Given the description of an element on the screen output the (x, y) to click on. 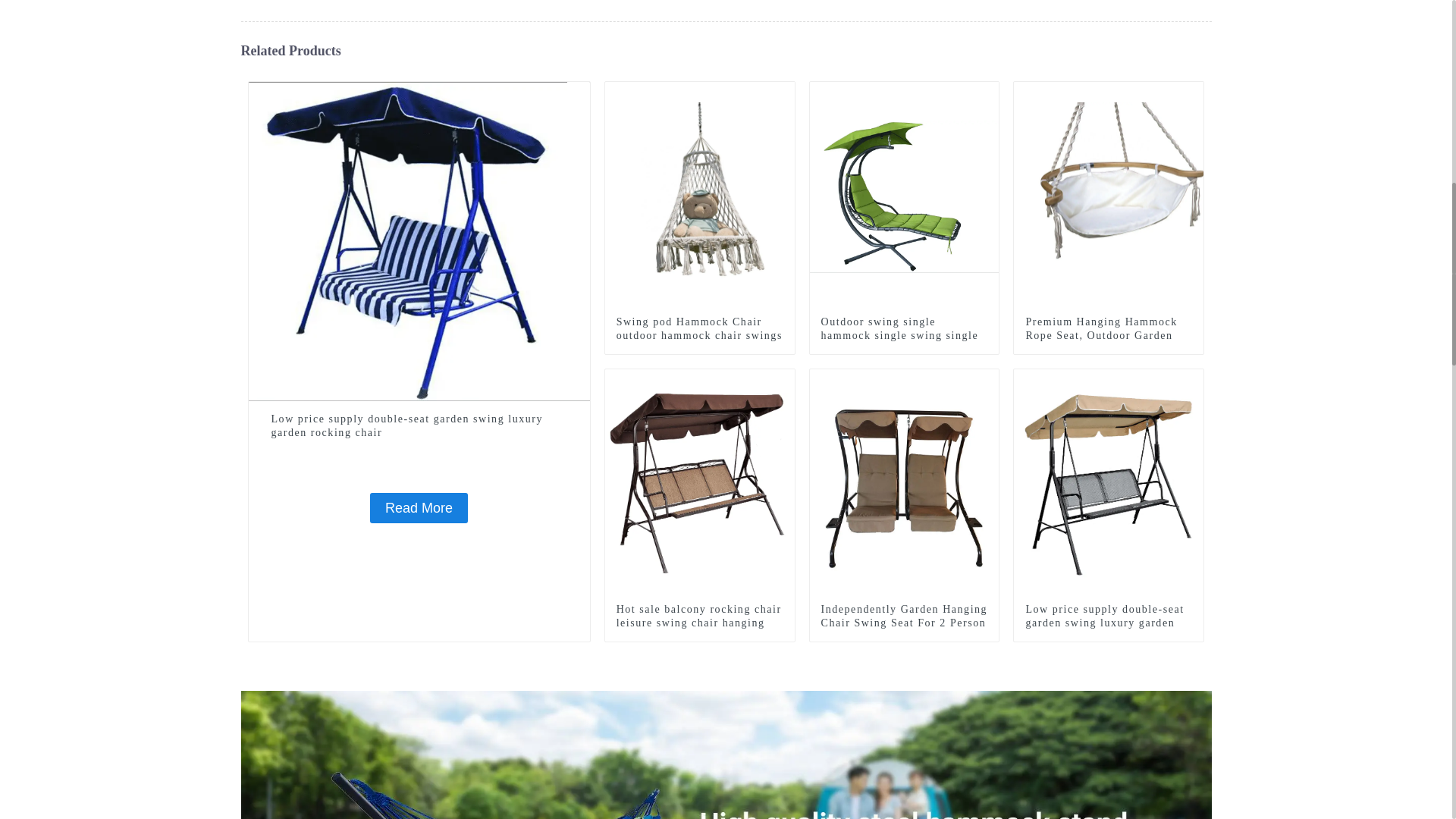
Read More (418, 508)
